Given the description of an element on the screen output the (x, y) to click on. 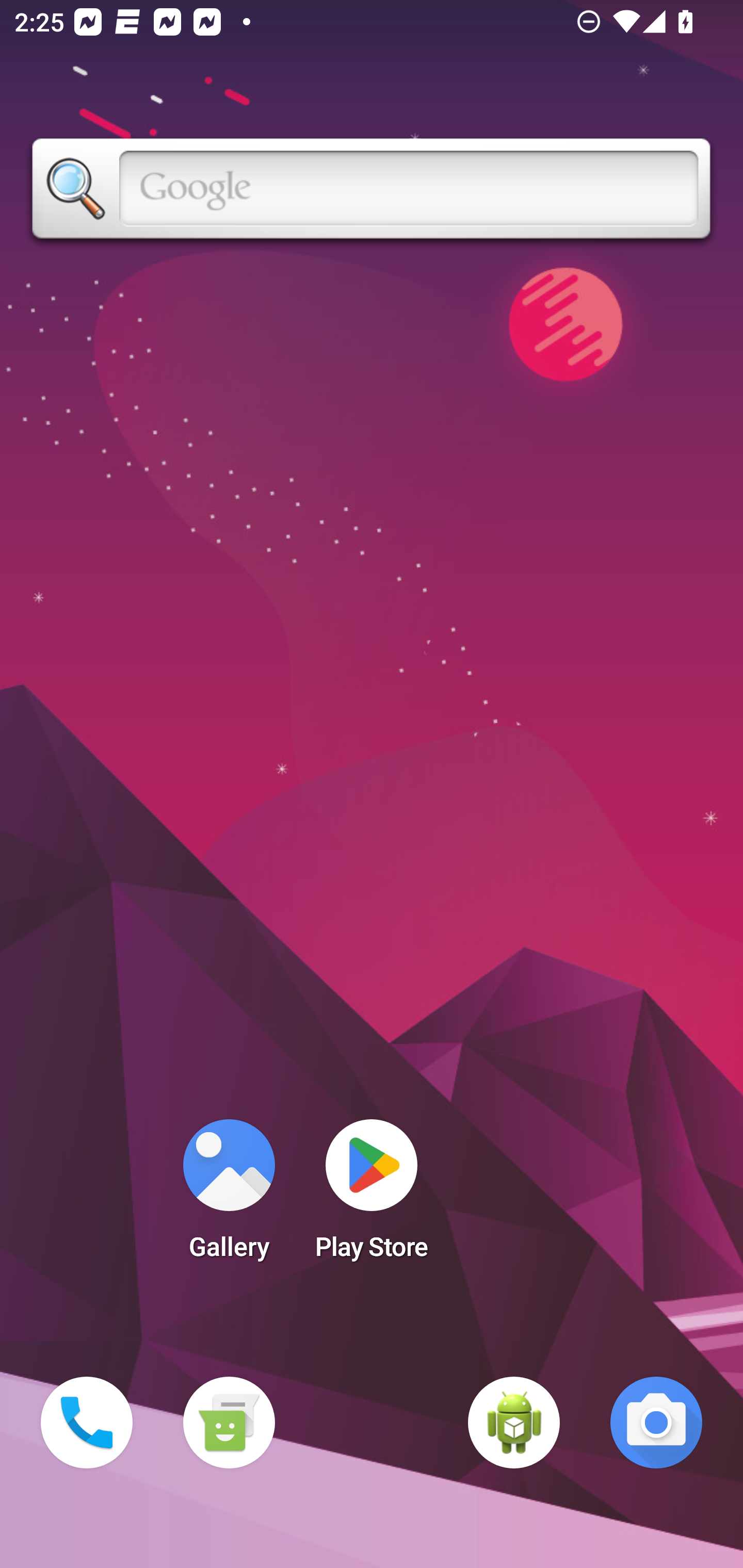
Gallery (228, 1195)
Play Store (371, 1195)
Phone (86, 1422)
Messaging (228, 1422)
WebView Browser Tester (513, 1422)
Camera (656, 1422)
